Given the description of an element on the screen output the (x, y) to click on. 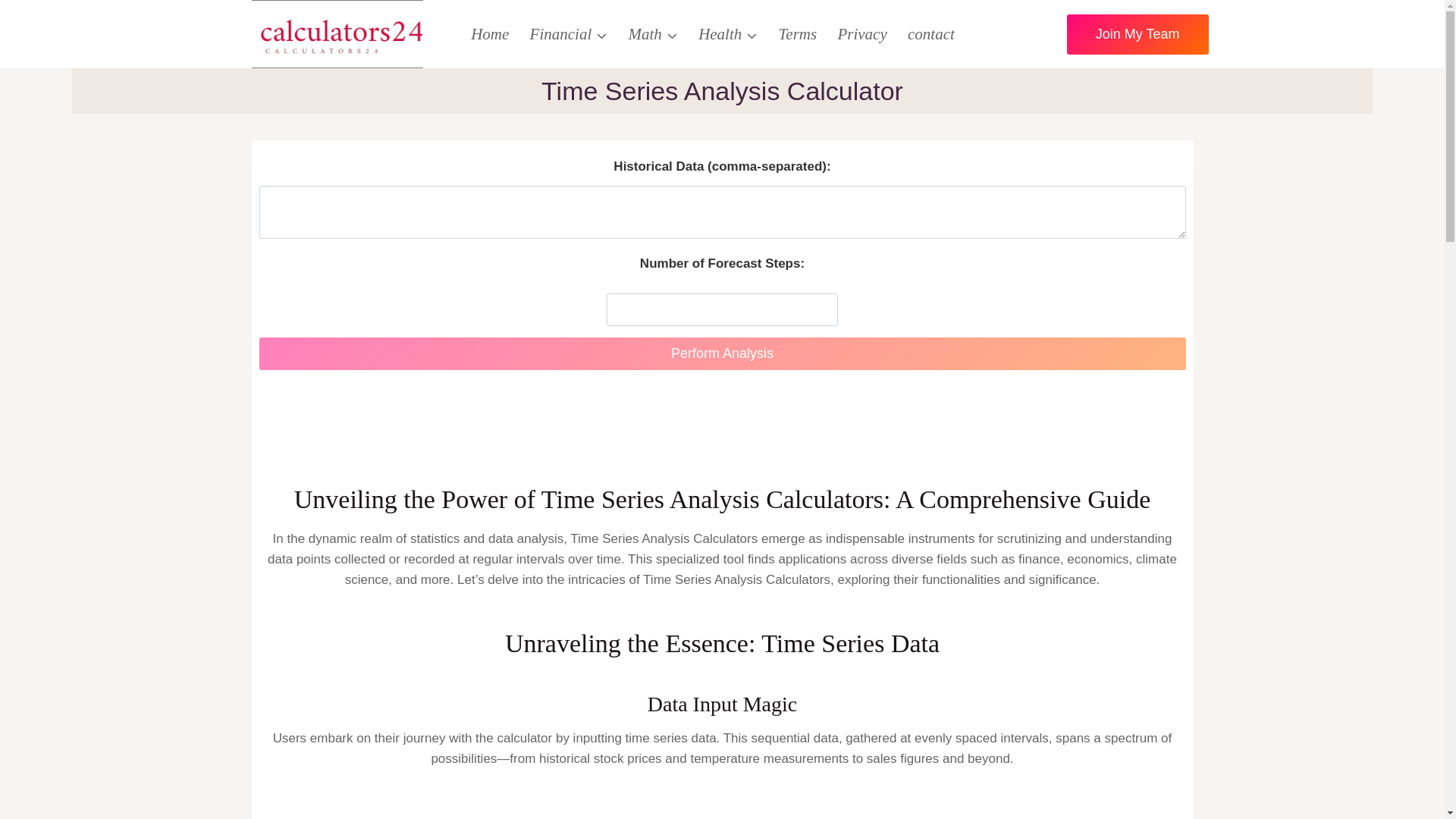
Privacy (862, 33)
Perform Analysis (722, 353)
contact (929, 33)
Health (727, 33)
Join My Team (1137, 34)
Home (490, 33)
Math (652, 33)
Financial (568, 33)
Terms (797, 33)
